Given the description of an element on the screen output the (x, y) to click on. 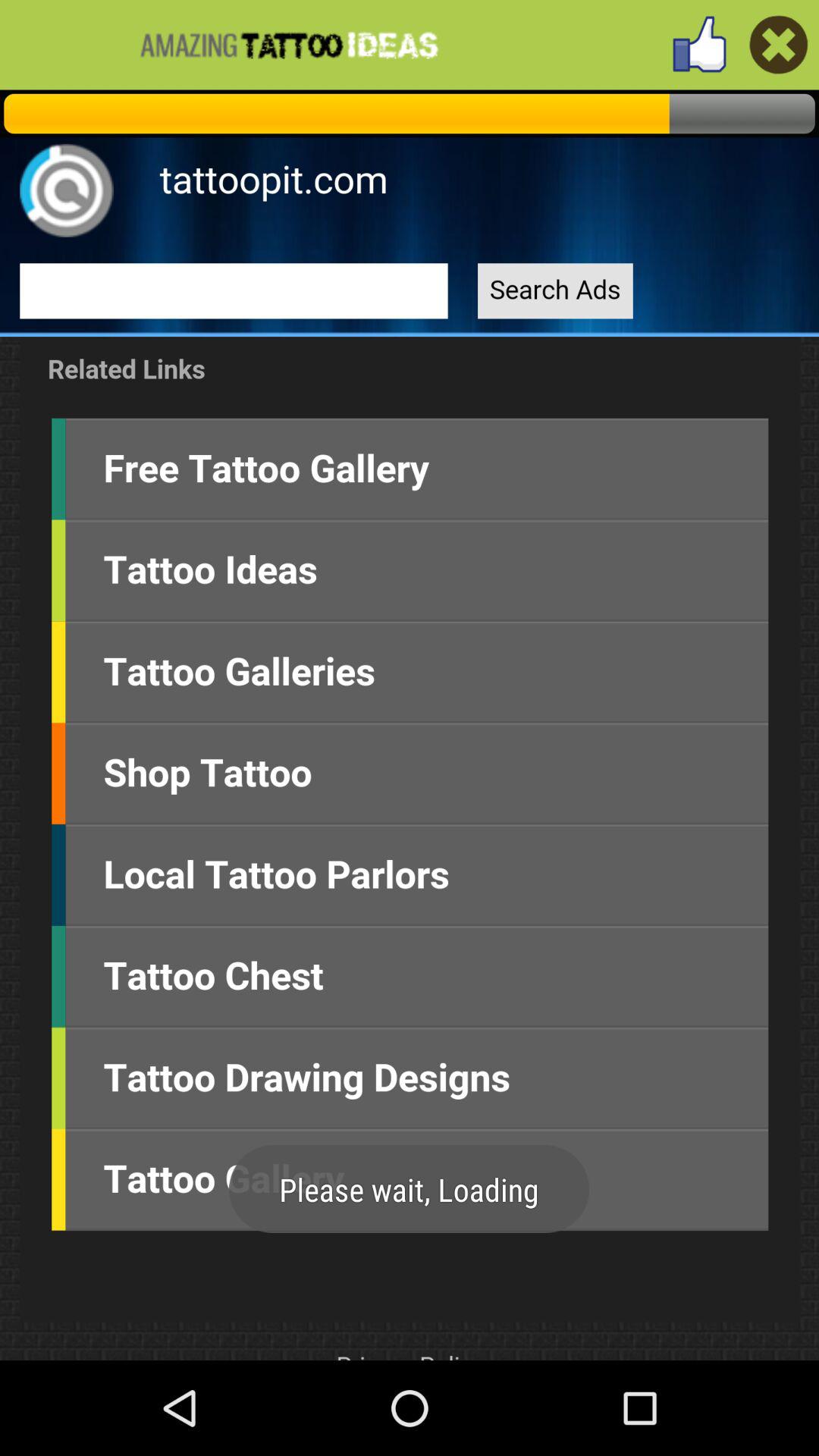
like page (699, 44)
